Given the description of an element on the screen output the (x, y) to click on. 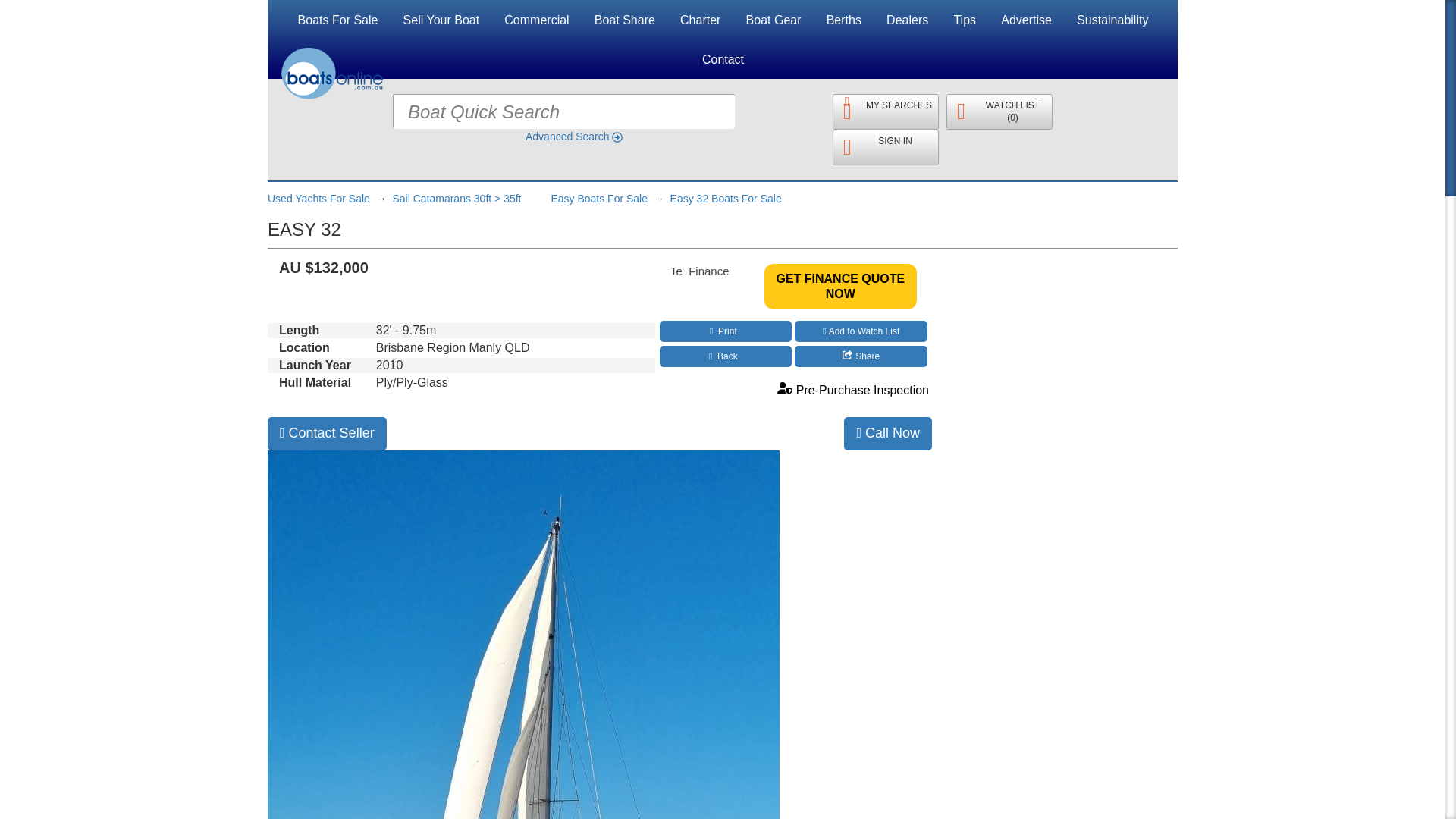
Commercial (536, 19)
Boat Share (624, 19)
Sell Your Boat (441, 19)
Charter (700, 19)
Boats For Sale (338, 19)
Keyword Search (762, 111)
